Given the description of an element on the screen output the (x, y) to click on. 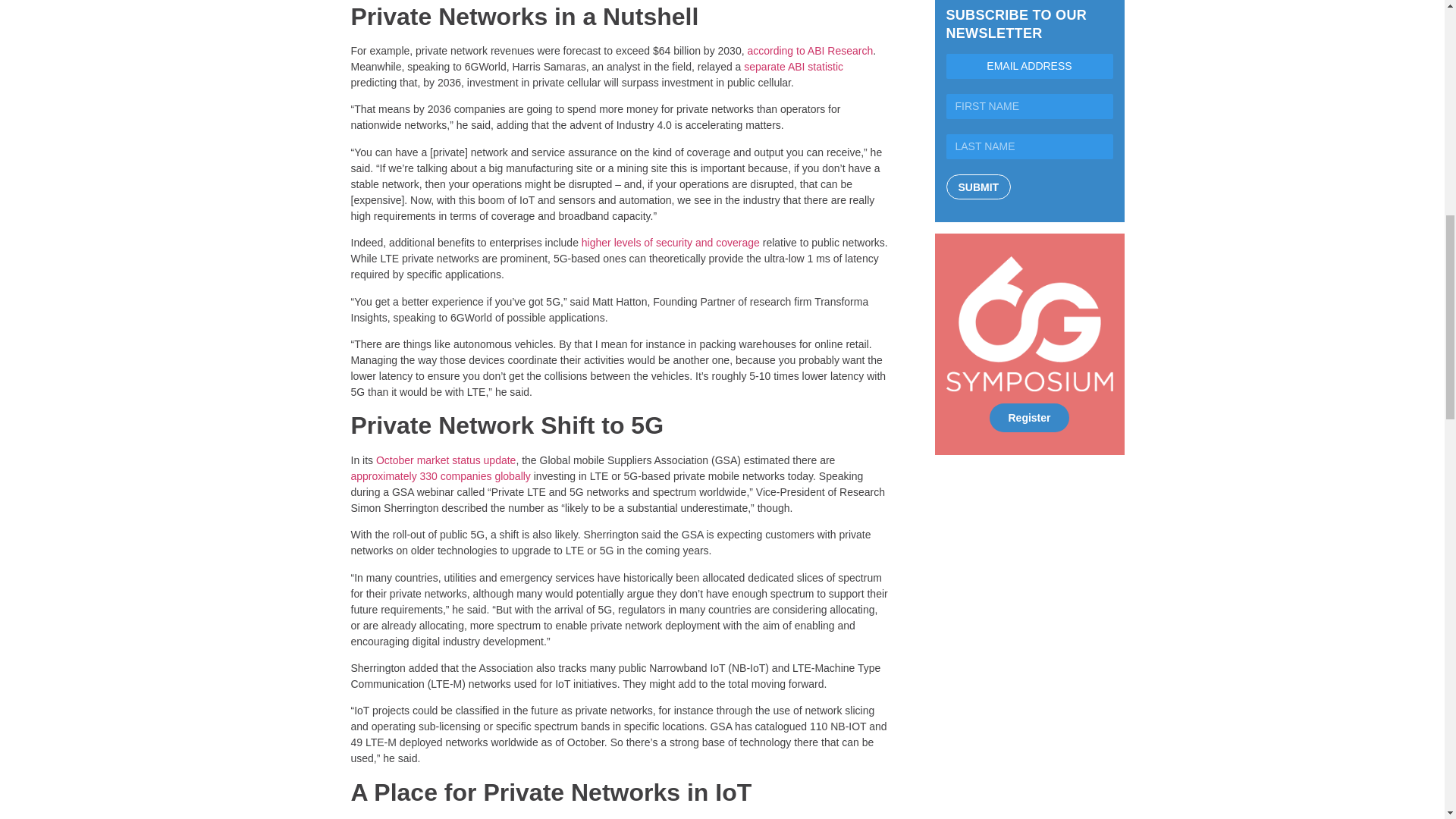
according to ABI Research (809, 50)
SUBMIT (978, 186)
separate ABI statistic (793, 66)
October market status update (445, 460)
Register (1029, 417)
approximately 330 companies globally (439, 476)
higher levels of security and coverage (670, 242)
